Given the description of an element on the screen output the (x, y) to click on. 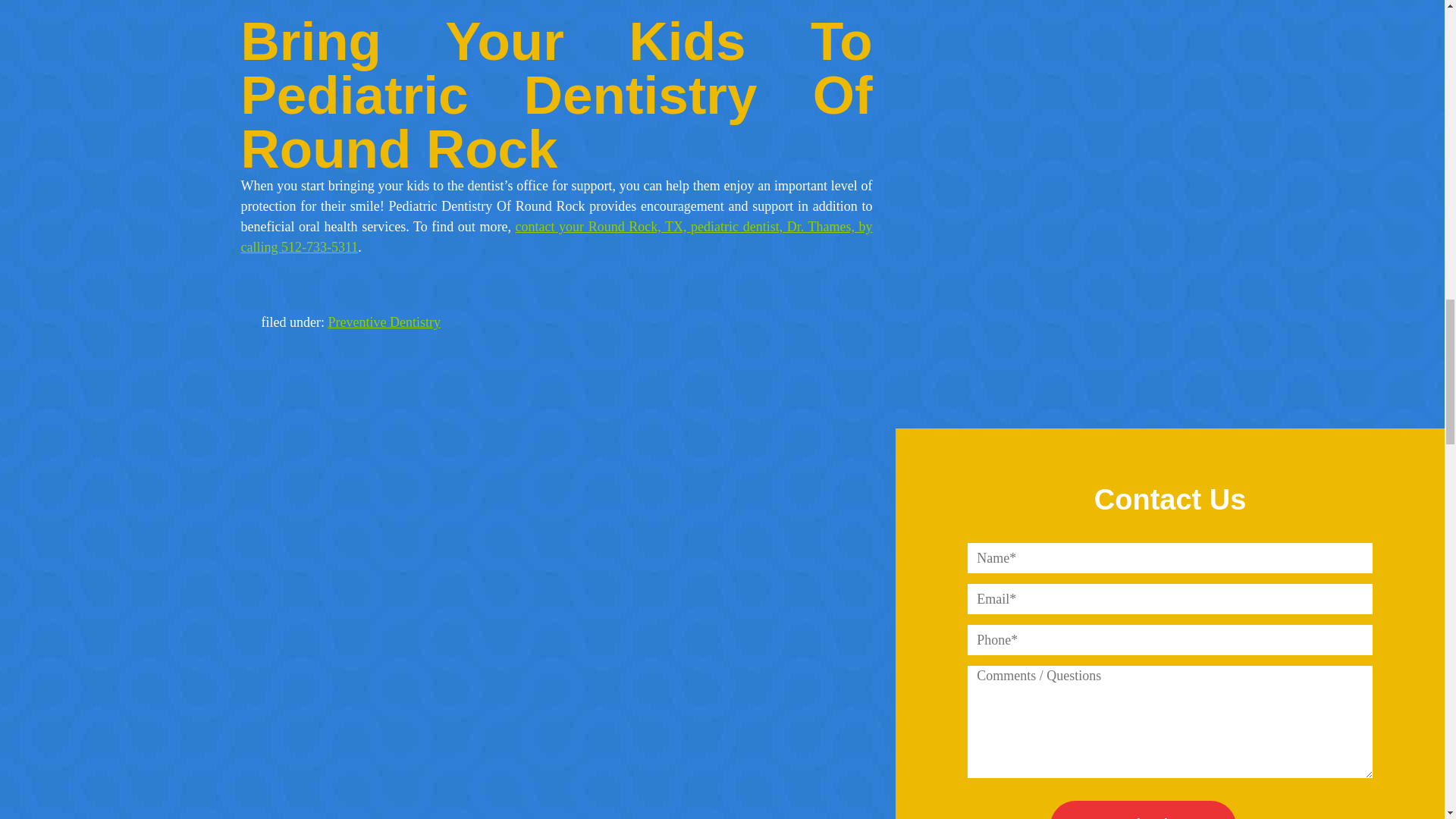
Submit (1142, 809)
